Given the description of an element on the screen output the (x, y) to click on. 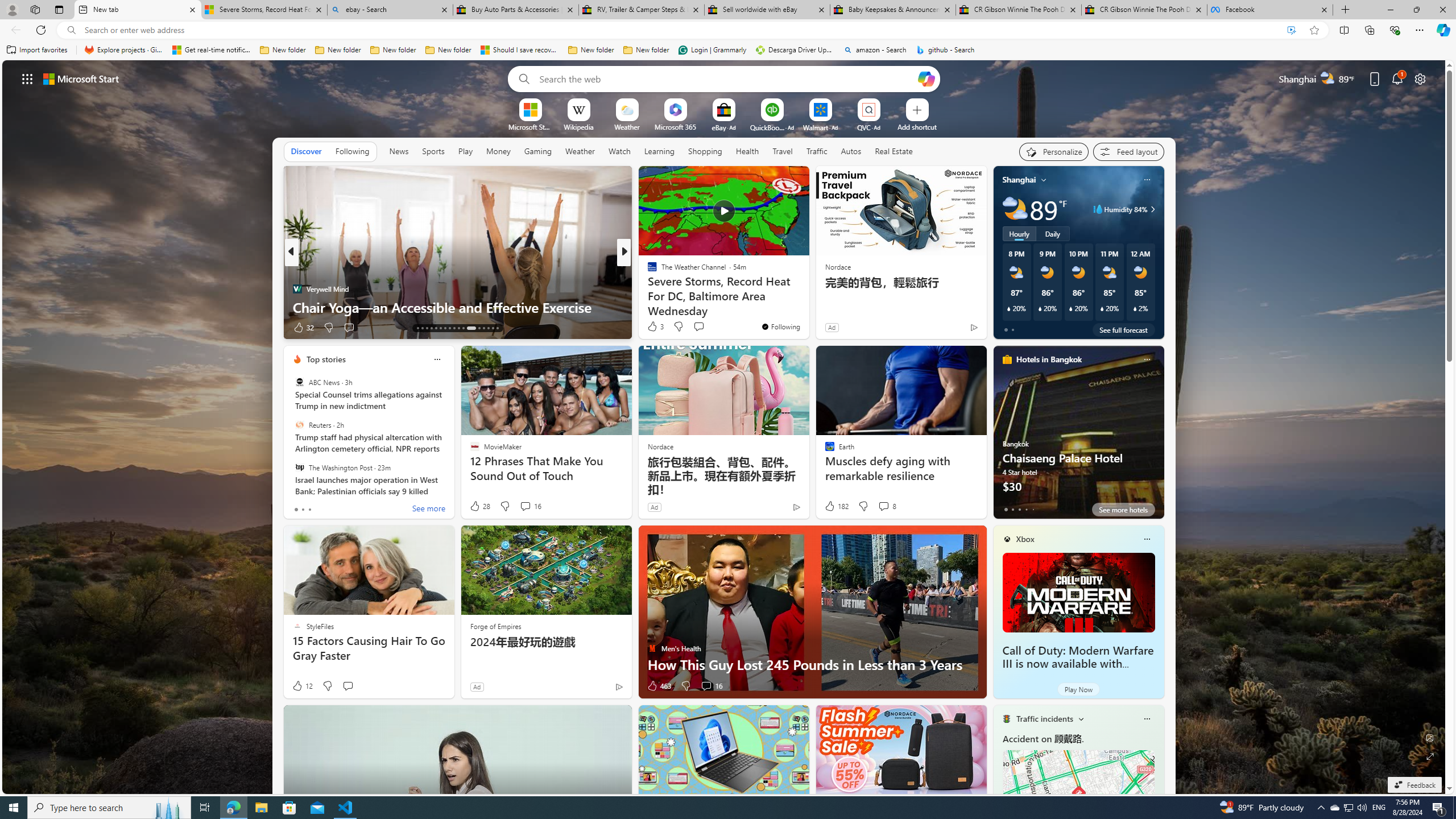
Daily (1052, 233)
AutomationID: tab-26 (483, 328)
The Washington Post (299, 466)
AutomationID: tab-17 (435, 328)
tab-0 (1005, 509)
tab-3 (1025, 509)
Traffic (816, 151)
Class: weather-arrow-glyph (1152, 208)
